Given the description of an element on the screen output the (x, y) to click on. 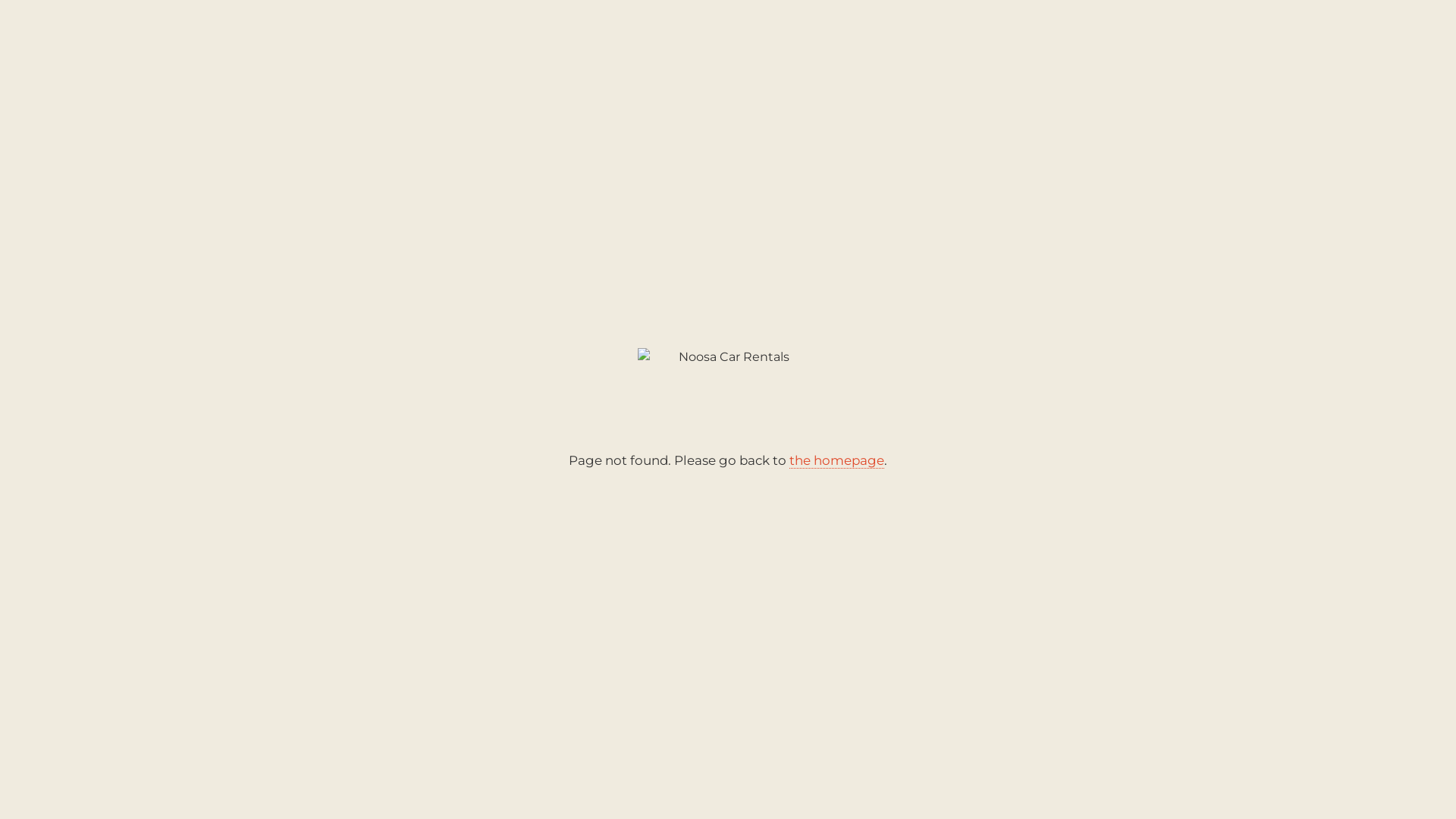
the homepage Element type: text (836, 460)
